Given the description of an element on the screen output the (x, y) to click on. 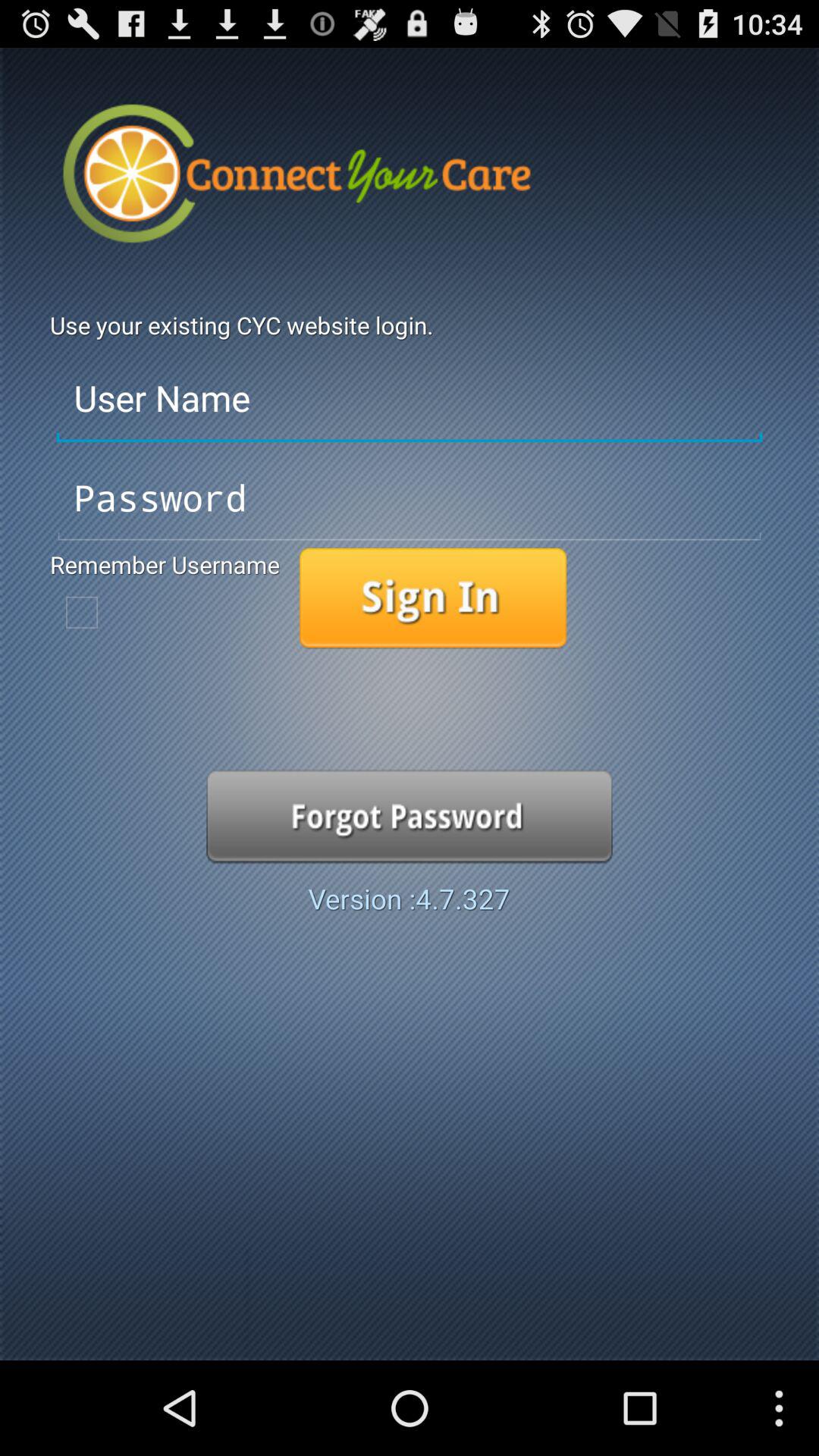
tap item below the remember username (81, 612)
